Given the description of an element on the screen output the (x, y) to click on. 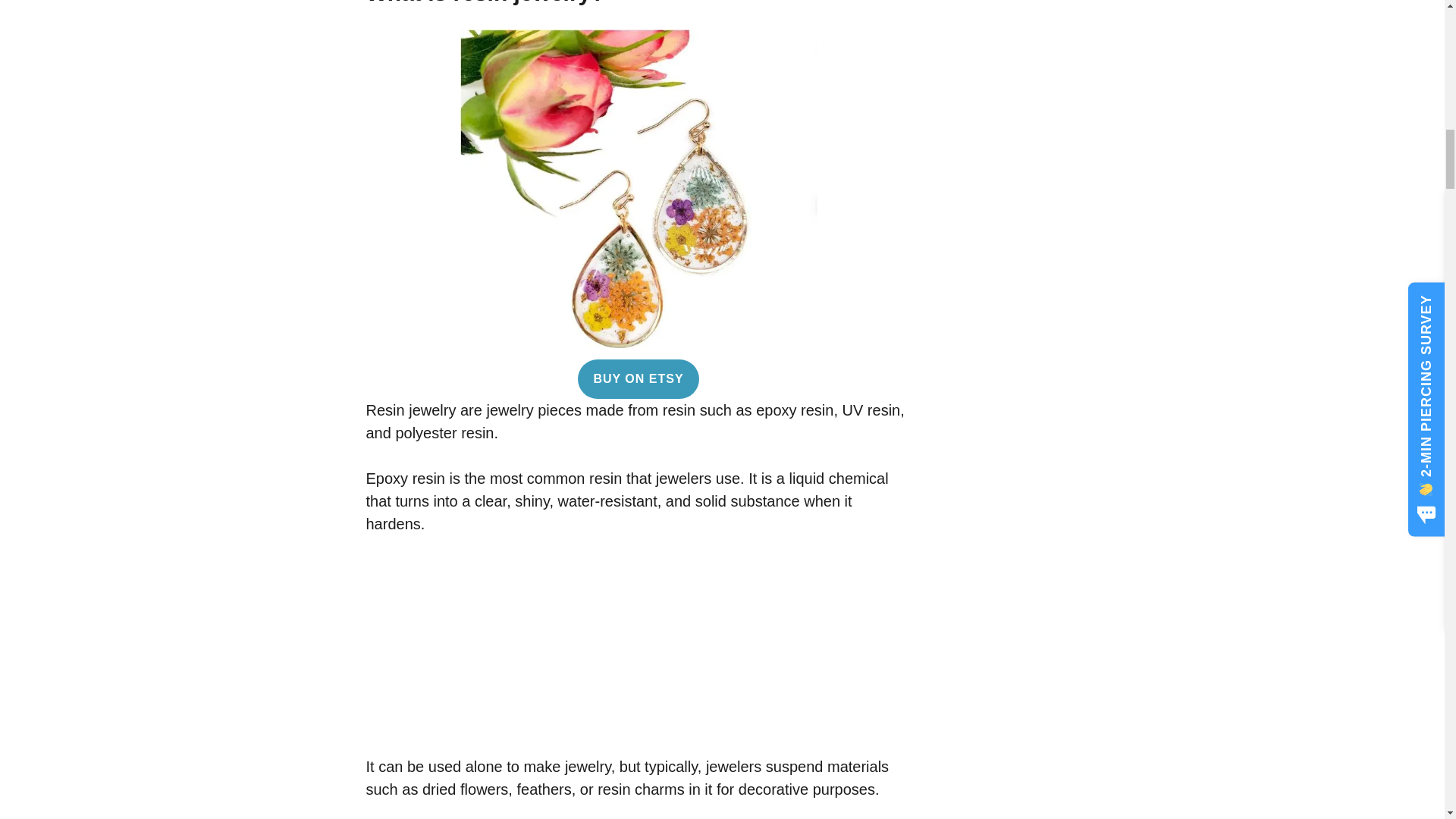
BUY ON ETSY (638, 378)
